Given the description of an element on the screen output the (x, y) to click on. 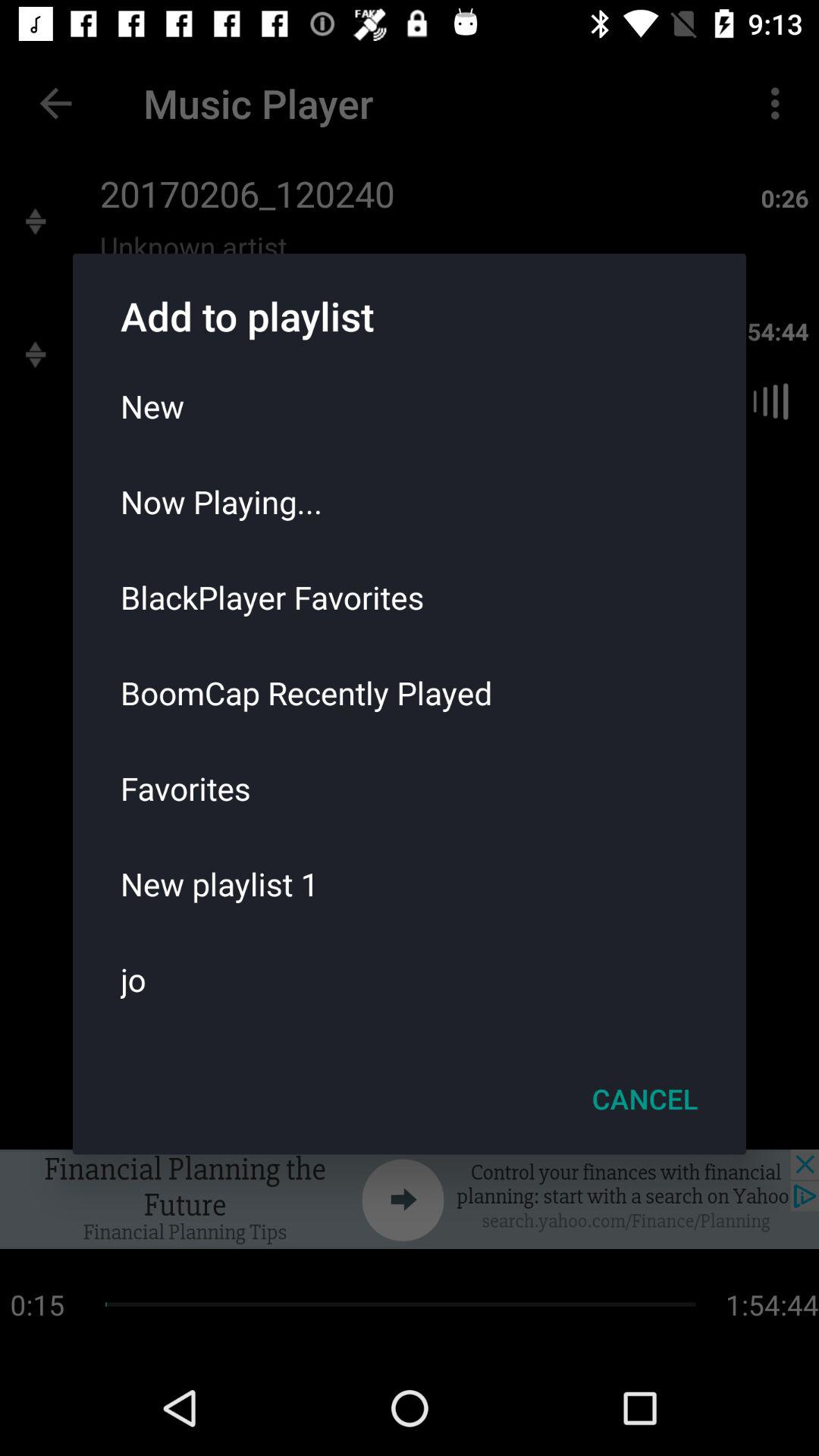
press the jo item (409, 979)
